Given the description of an element on the screen output the (x, y) to click on. 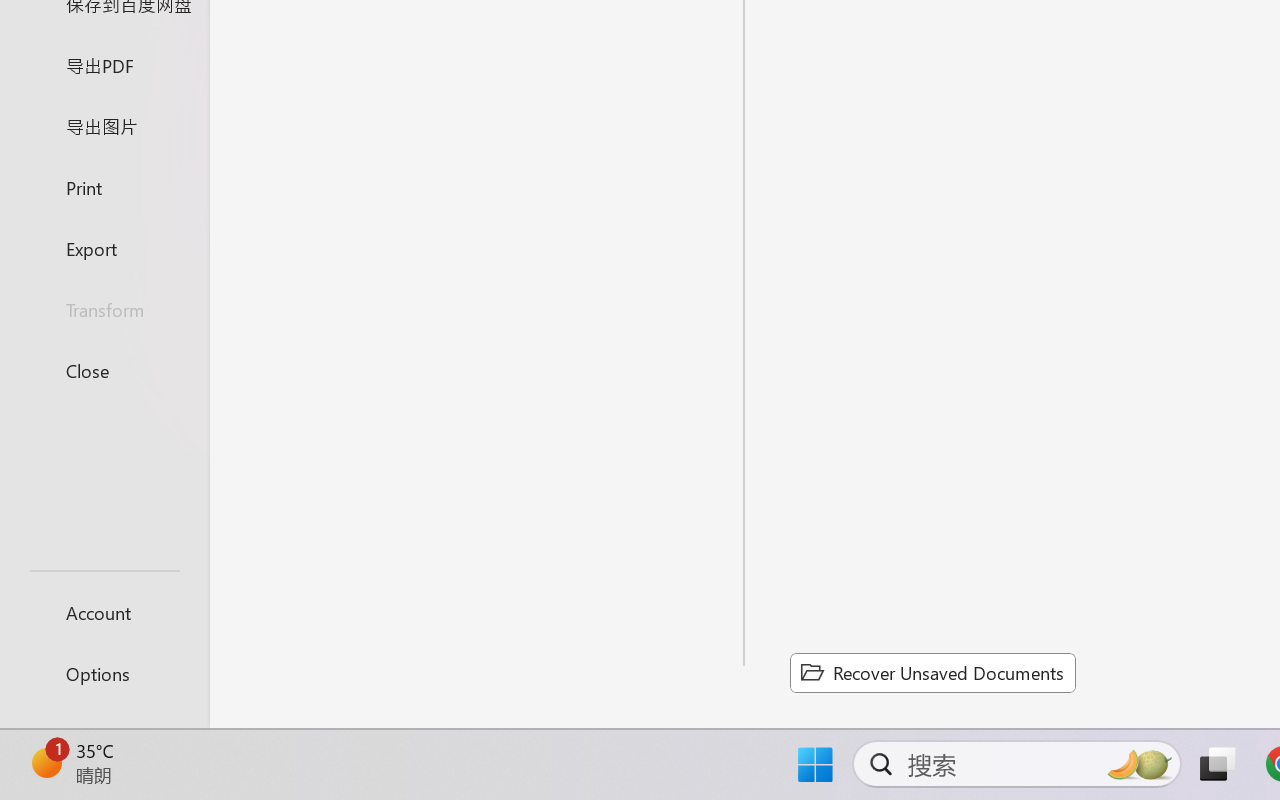
Options (104, 673)
Export (104, 248)
Account (104, 612)
Transform (104, 309)
Recover Unsaved Documents (932, 672)
Print (104, 186)
